Given the description of an element on the screen output the (x, y) to click on. 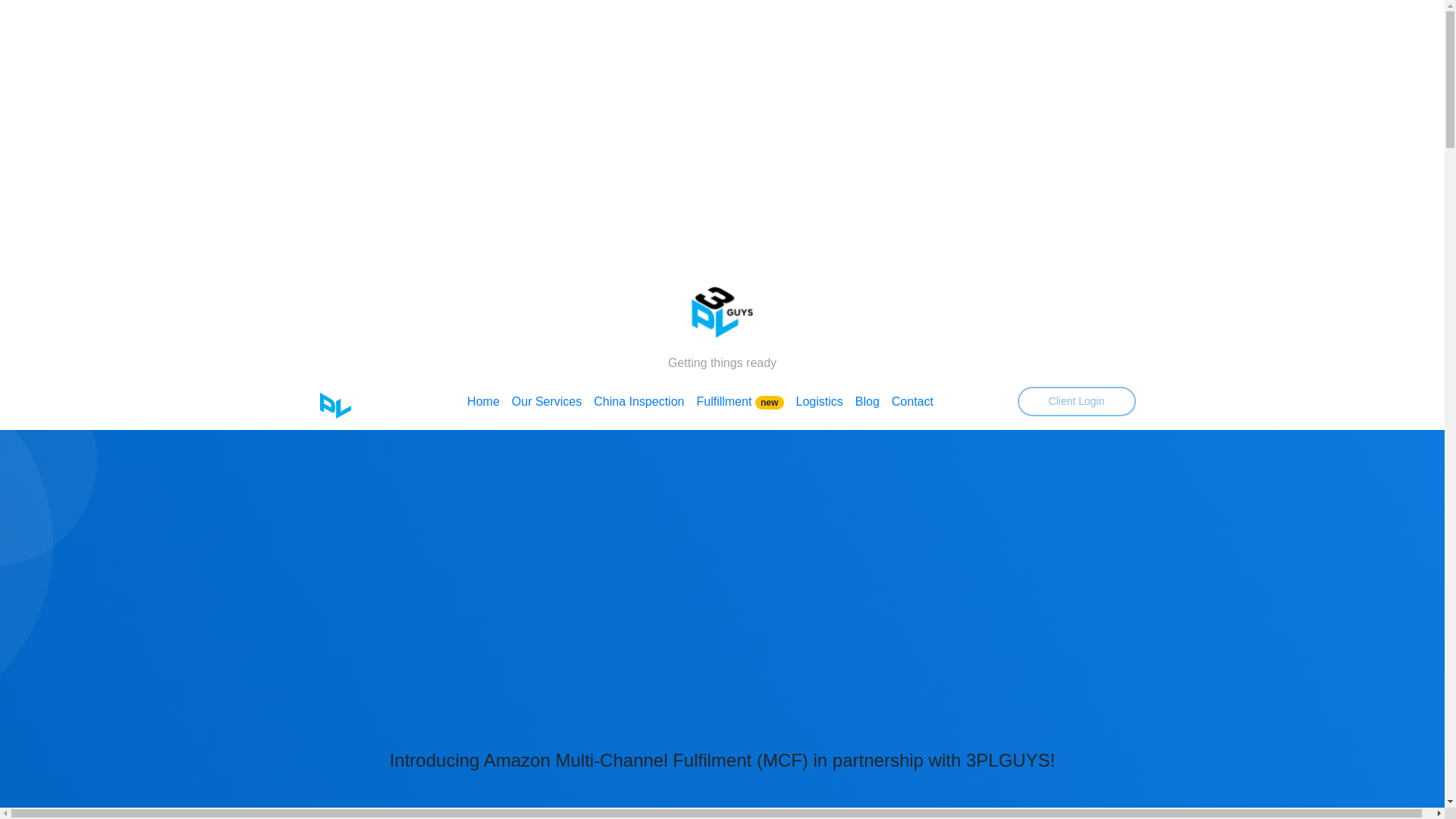
Blog Element type: text (867, 401)
Contact Element type: text (912, 401)
Client Login Element type: text (1076, 401)
Fulfillment new Element type: text (739, 401)
Our Services Element type: text (546, 401)
China Inspection Element type: text (638, 401)
Logistics Element type: text (819, 401)
Home Element type: text (483, 401)
